Given the description of an element on the screen output the (x, y) to click on. 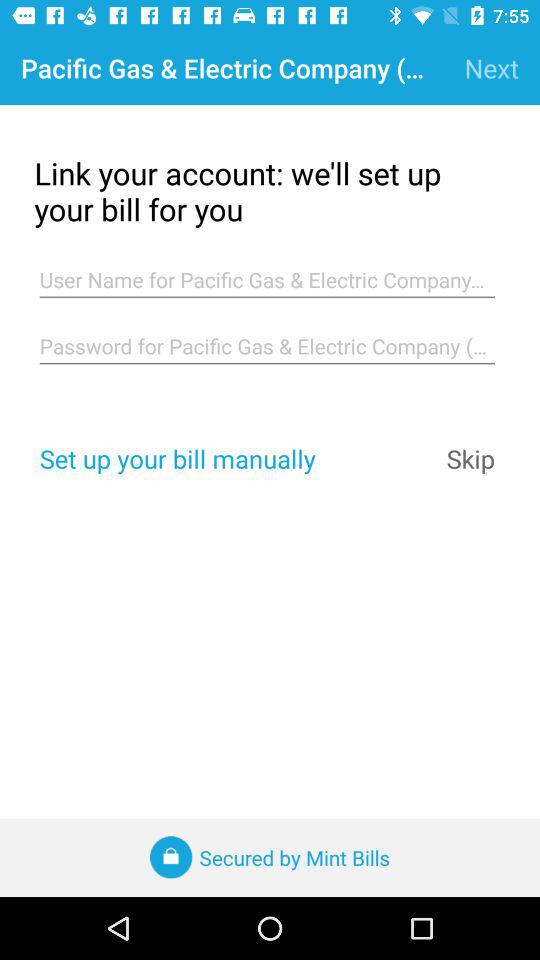
turn off item to the right of set up your icon (470, 458)
